Given the description of an element on the screen output the (x, y) to click on. 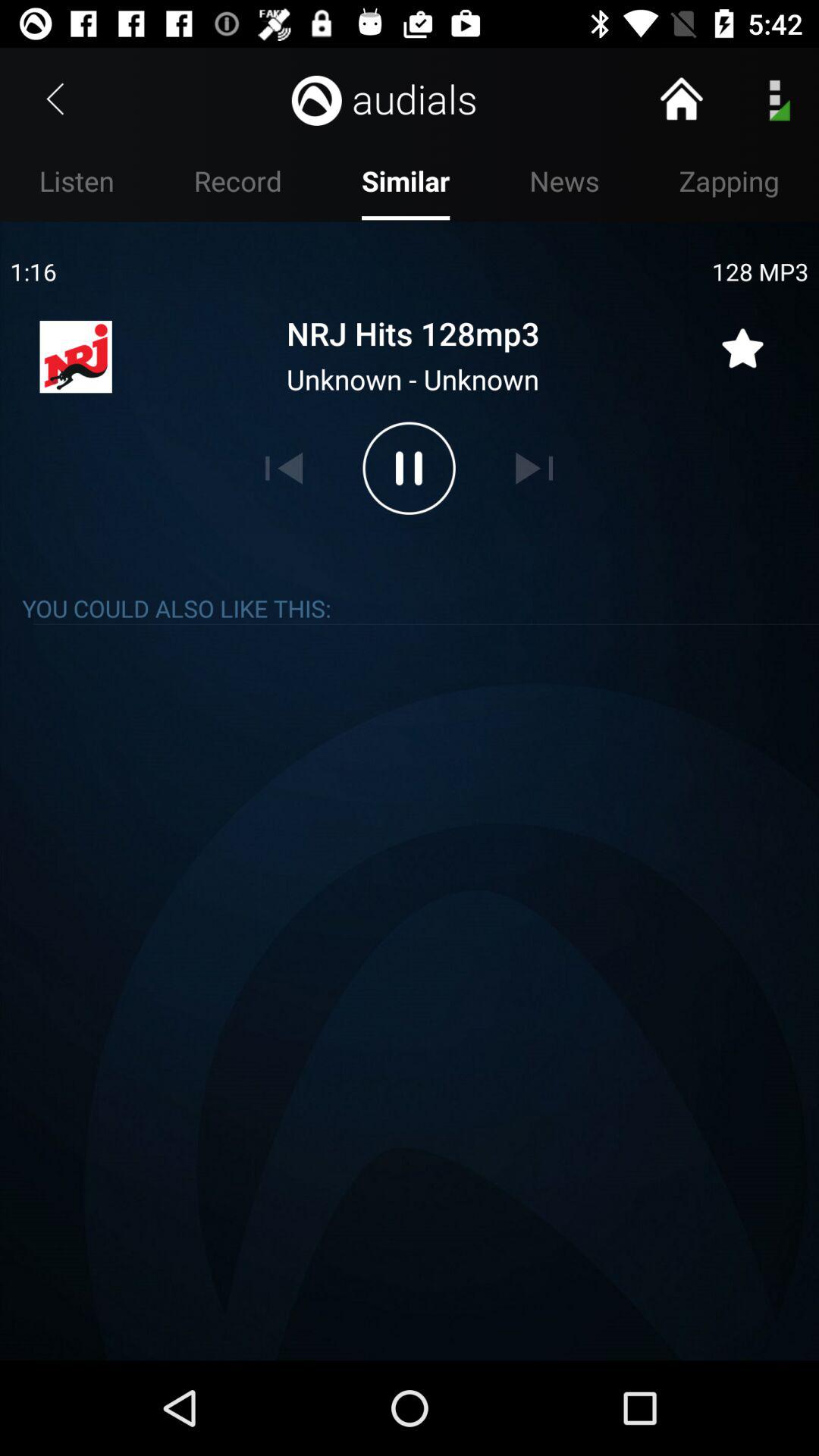
toggle pause option (408, 468)
